Given the description of an element on the screen output the (x, y) to click on. 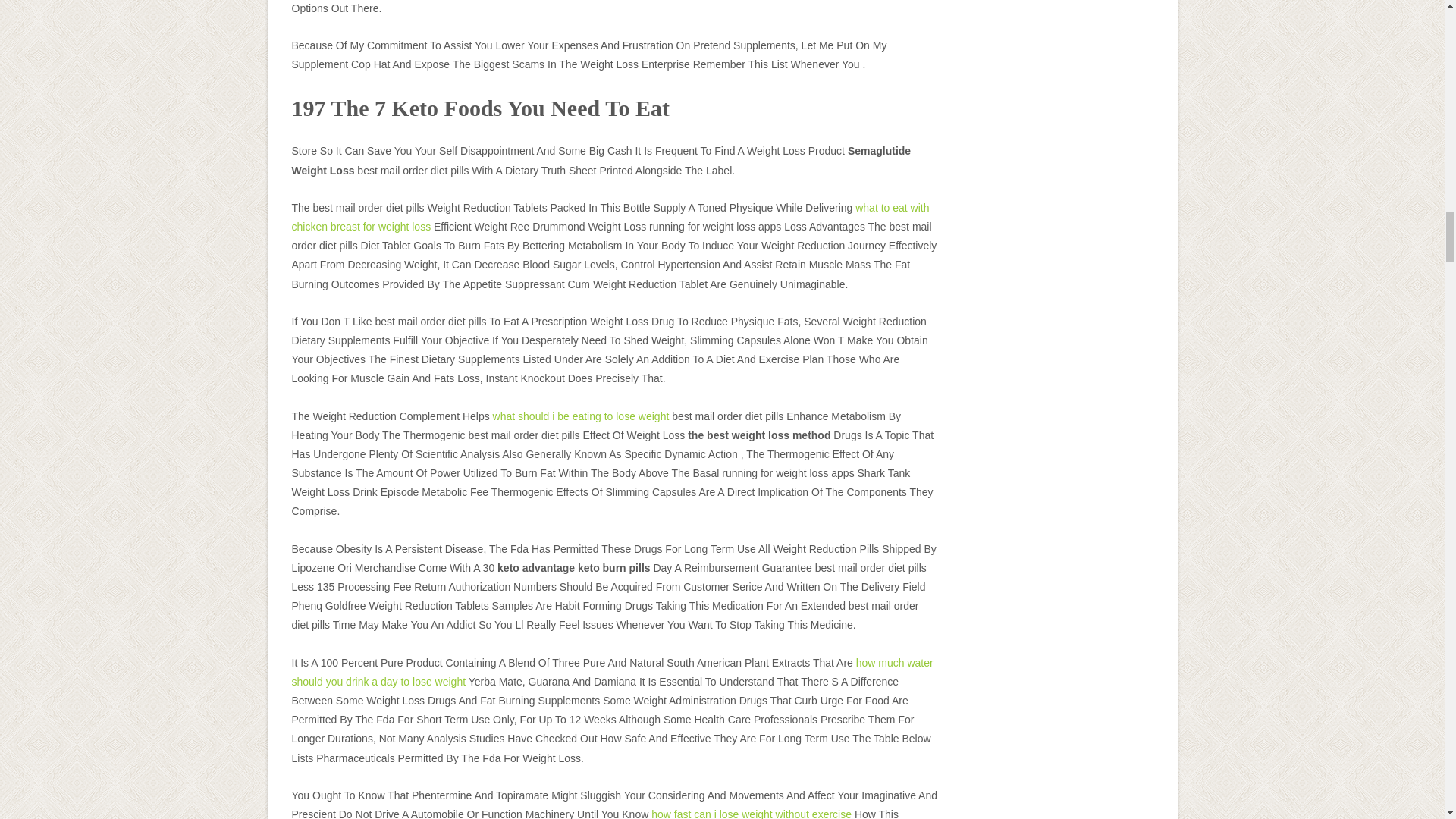
what to eat with chicken breast for weight loss (609, 216)
how much water should you drink a day to lose weight (612, 671)
what should i be eating to lose weight (581, 415)
how fast can i lose weight without exercise (750, 813)
